Given the description of an element on the screen output the (x, y) to click on. 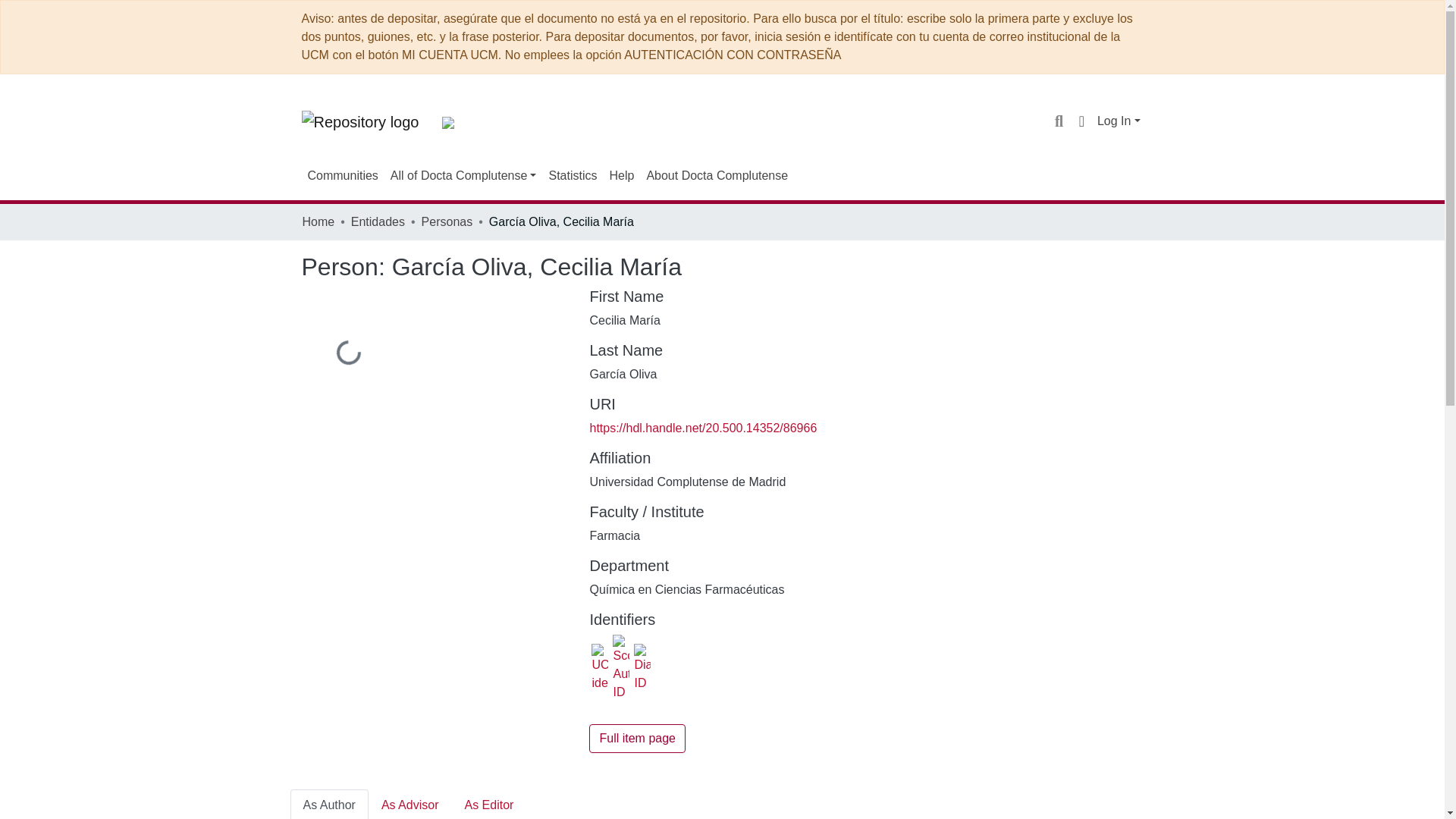
All of Docta Complutense (463, 175)
Statistics (571, 175)
Communities (342, 175)
Home (317, 221)
Help (621, 175)
As Advisor (409, 804)
Communities (342, 175)
Search (1058, 121)
Entidades (377, 221)
Personas (447, 221)
As Author (328, 804)
Full item page (637, 737)
About Docta Complutense (716, 175)
Language switch (1081, 121)
Log In (1118, 120)
